Given the description of an element on the screen output the (x, y) to click on. 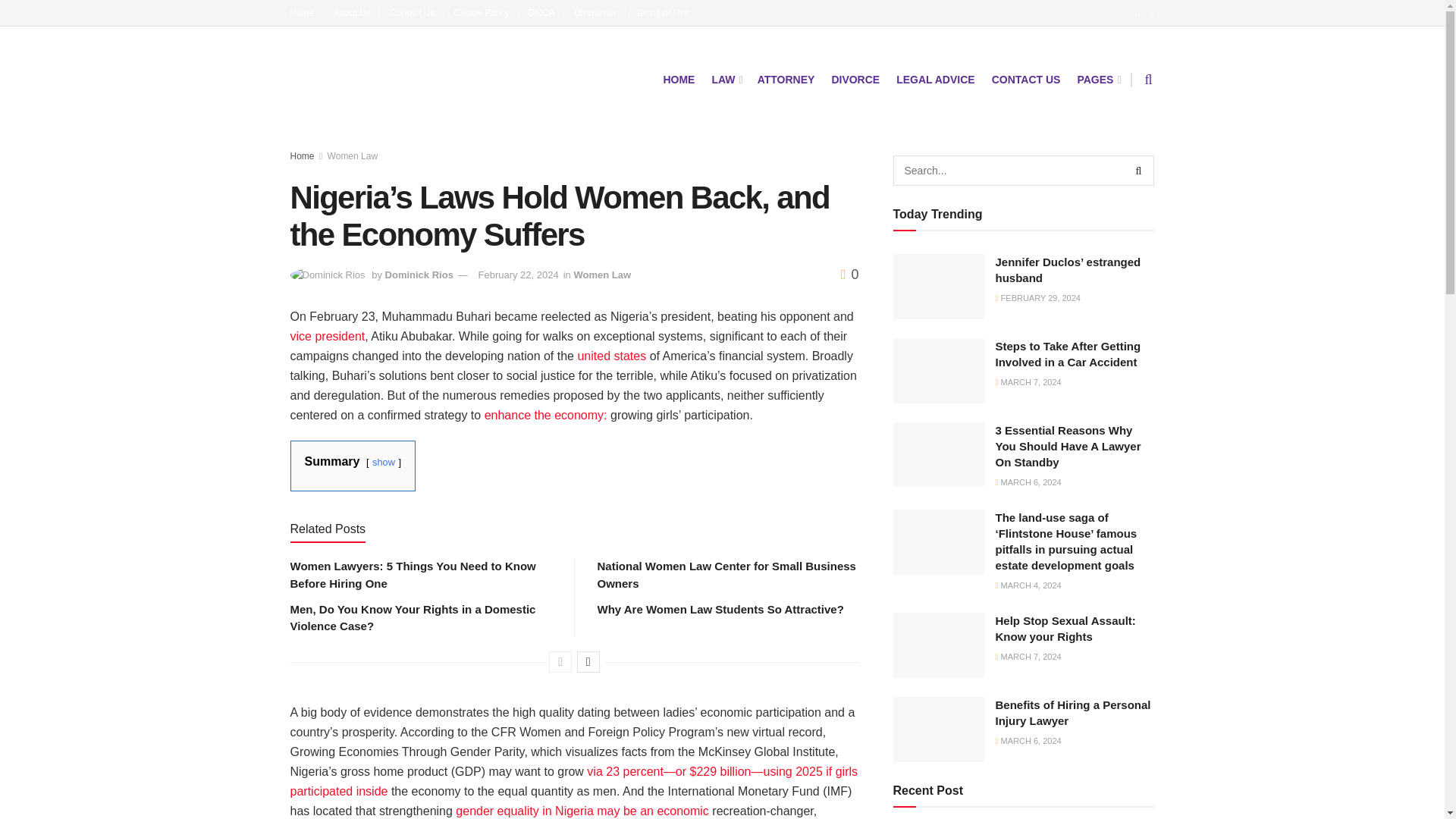
Terms of Use (661, 12)
LAW (725, 79)
DMCA (545, 12)
Home (306, 12)
Contact Us (417, 12)
Cookie Policy (486, 12)
HOME (678, 79)
Previous (560, 661)
Disclaimer (599, 12)
PAGES (1097, 79)
CONTACT US (1026, 79)
ATTORNEY (786, 79)
DIVORCE (855, 79)
Next (587, 661)
About Us (356, 12)
